Given the description of an element on the screen output the (x, y) to click on. 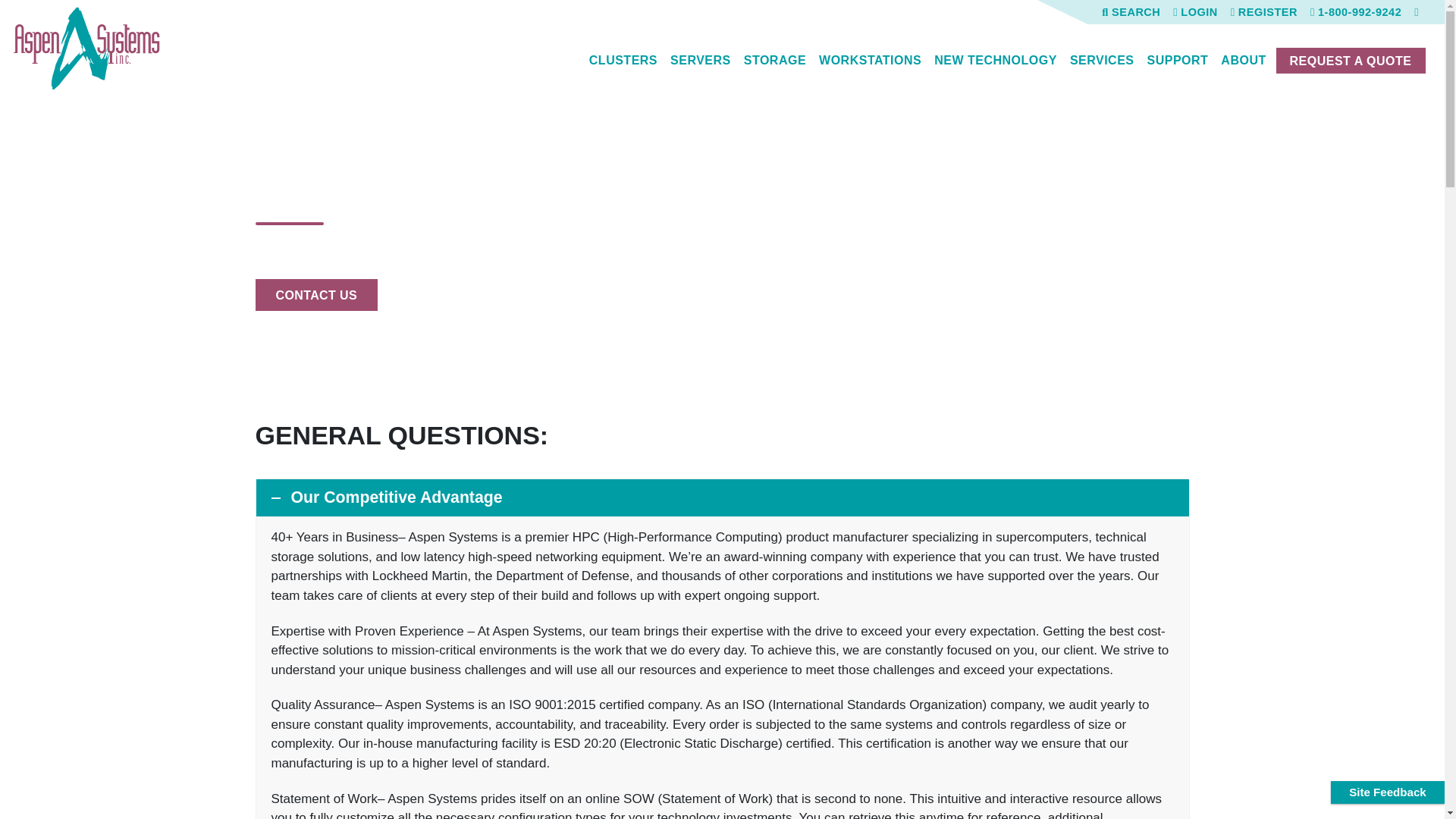
WORKSTATIONS (869, 59)
Site Search (1131, 11)
NEW TECHNOLOGY (995, 59)
REGISTER (1263, 11)
STORAGE (774, 59)
CLUSTERS (623, 59)
SERVERS (699, 59)
LOGIN (1195, 11)
1-800-992-9242 (1355, 11)
SERVICES (1102, 59)
SEARCH (1131, 11)
